Given the description of an element on the screen output the (x, y) to click on. 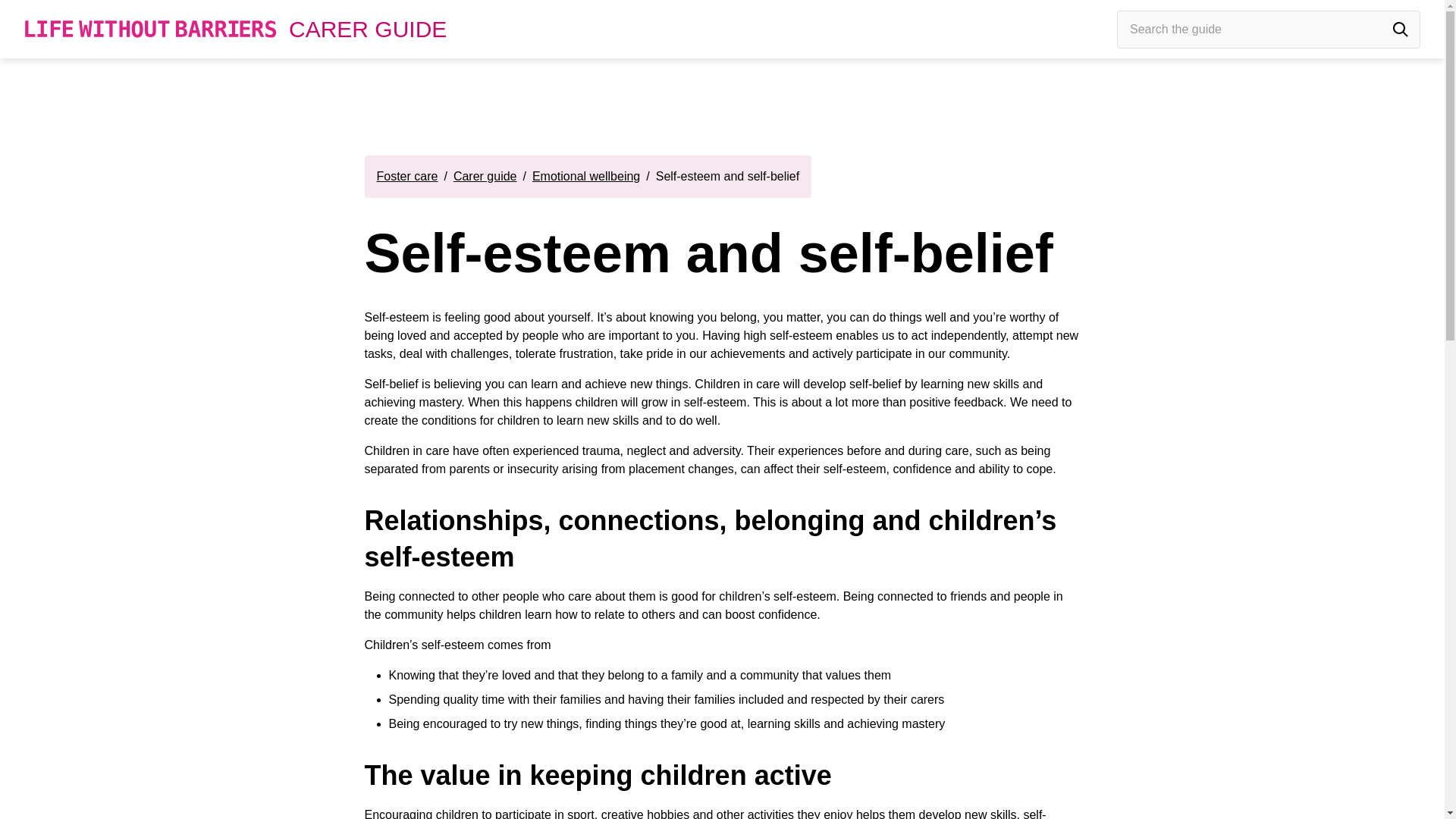
Life Without Barriers (150, 28)
Carer guide (484, 176)
Foster care (406, 176)
Emotional wellbeing (586, 176)
Foster care (406, 176)
Carer guide (484, 176)
Emotional wellbeing (586, 176)
CARER GUIDE (367, 28)
